Given the description of an element on the screen output the (x, y) to click on. 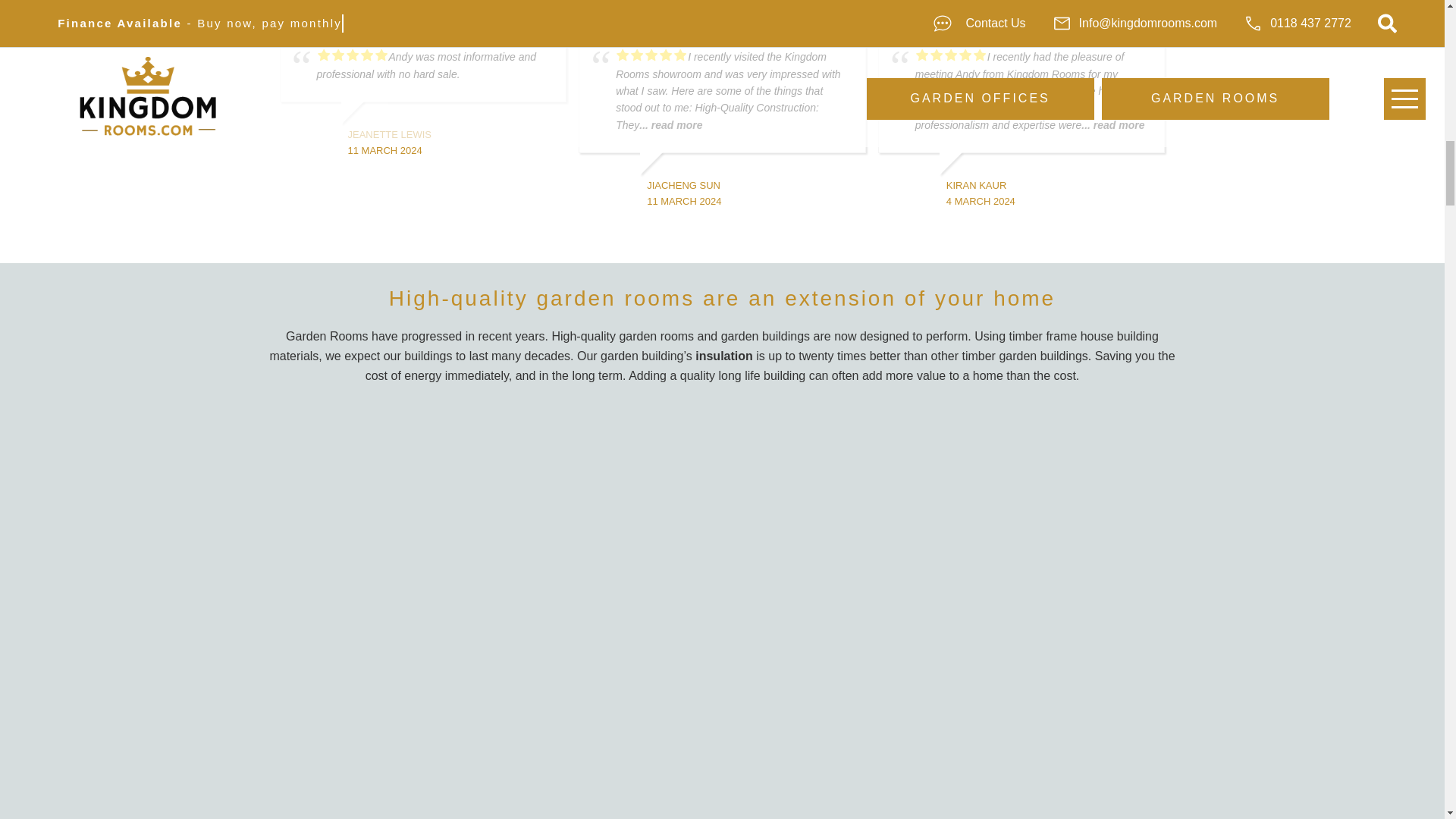
... read more (670, 124)
insulation (723, 355)
... read more (1112, 124)
